Given the description of an element on the screen output the (x, y) to click on. 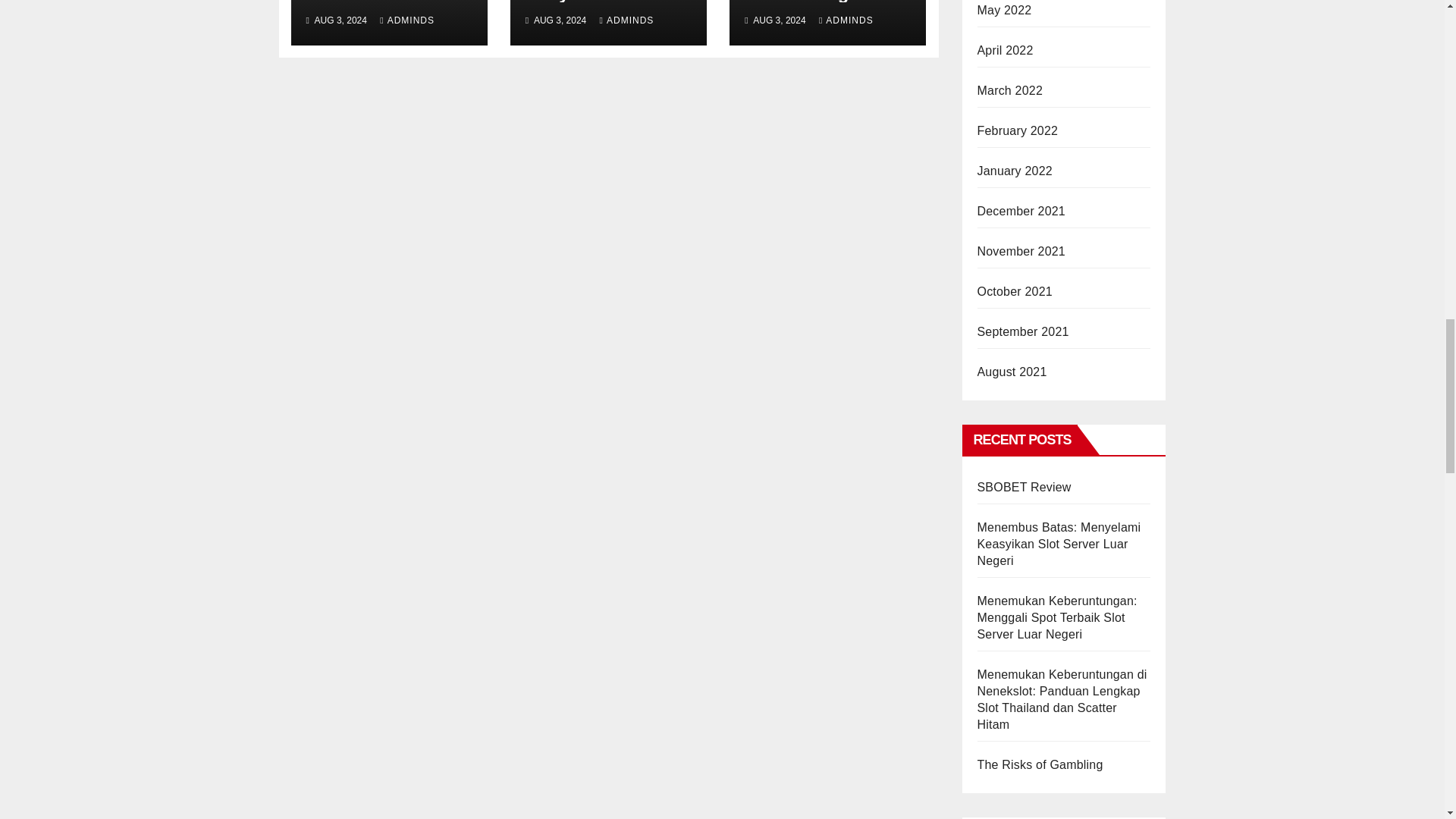
SBOBET Review (371, 1)
ADMINDS (406, 20)
ADMINDS (845, 20)
Permalink to: SBOBET Review (371, 1)
ADMINDS (626, 20)
Menembus Batas: Menyelami Keasyikan Slot Server Luar Negeri (598, 20)
